Given the description of an element on the screen output the (x, y) to click on. 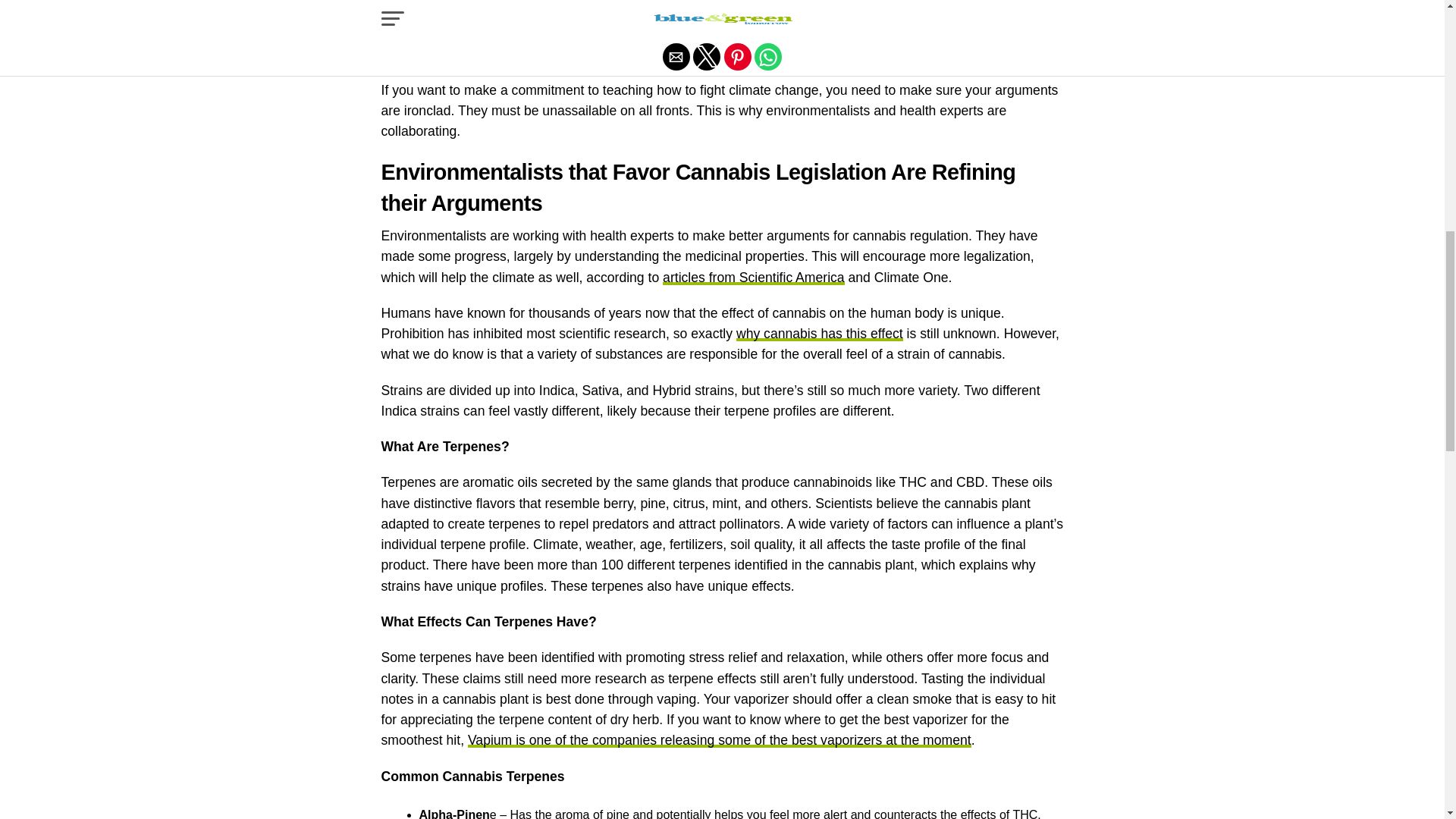
why cannabis has this effect (819, 333)
articles from Scientific America (753, 277)
legalizing cannabis can also help fight climate change (714, 22)
